Given the description of an element on the screen output the (x, y) to click on. 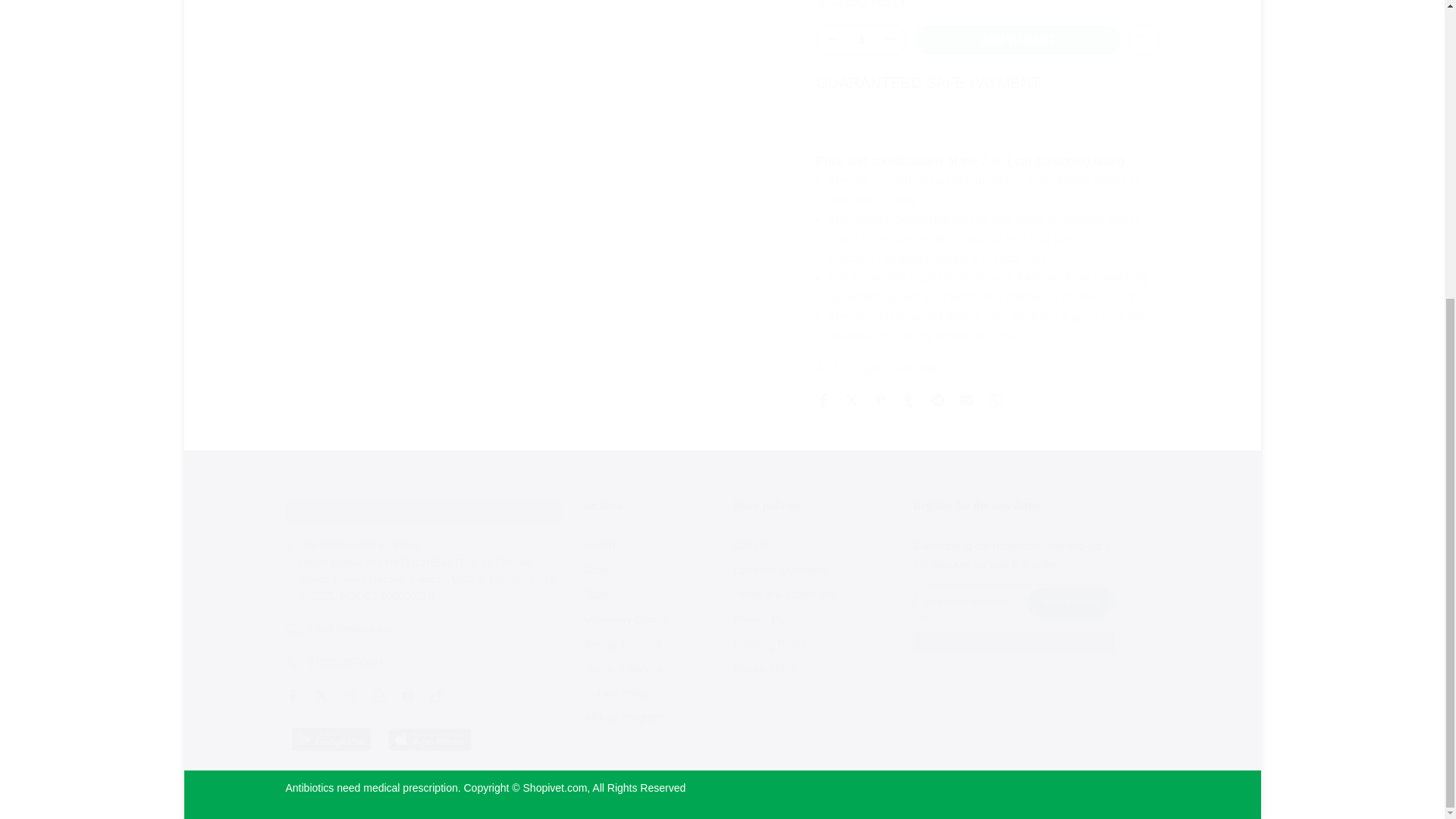
Post on Facebook (822, 211)
Post on Tumblr (908, 211)
Post on Telegram (937, 211)
Post on Pinterest (879, 211)
Post on Twitter (851, 211)
Share on WhatsApp (995, 211)
Post by email (966, 211)
